Given the description of an element on the screen output the (x, y) to click on. 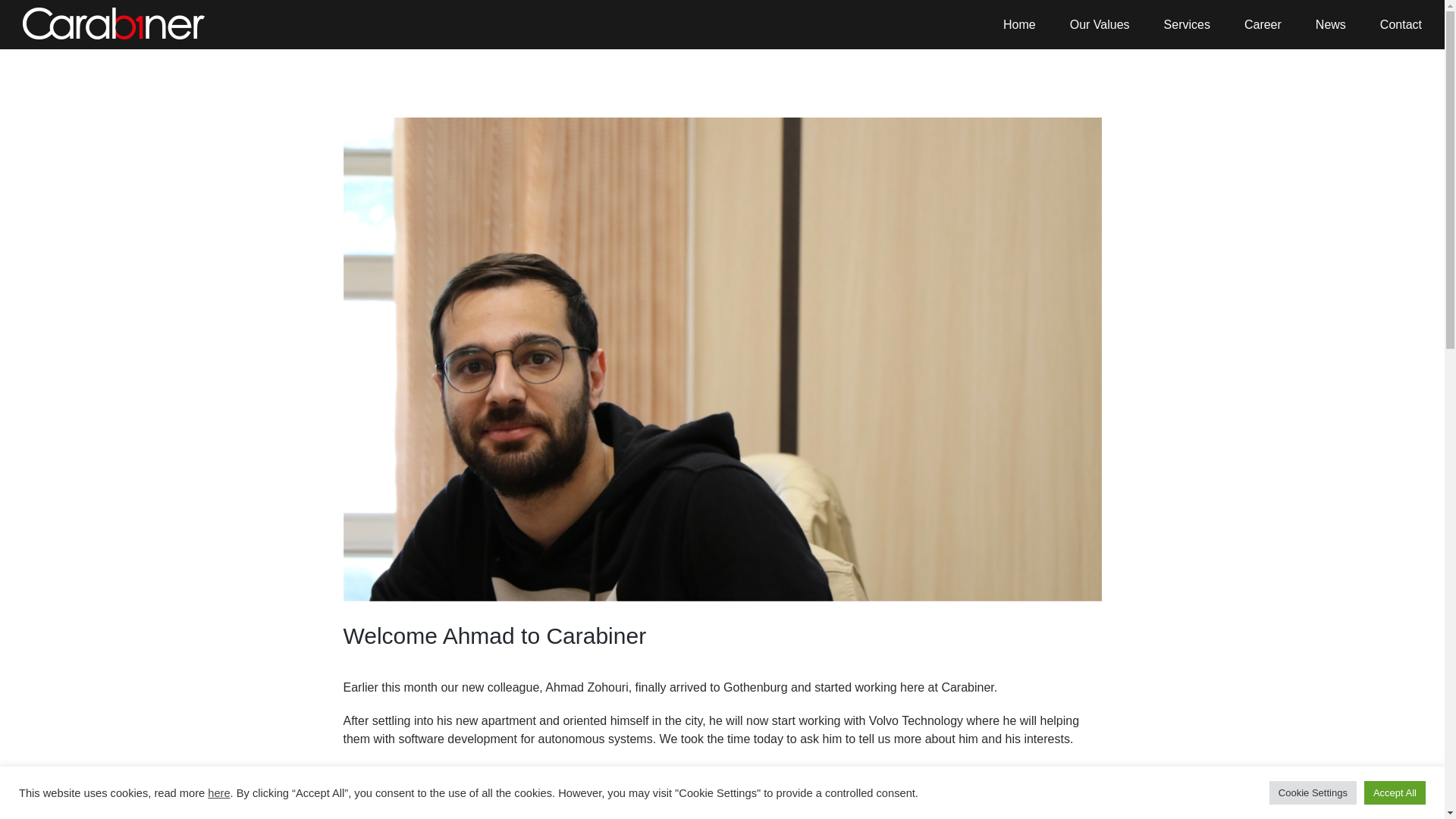
Our Values (1099, 24)
Services (1186, 24)
